Given the description of an element on the screen output the (x, y) to click on. 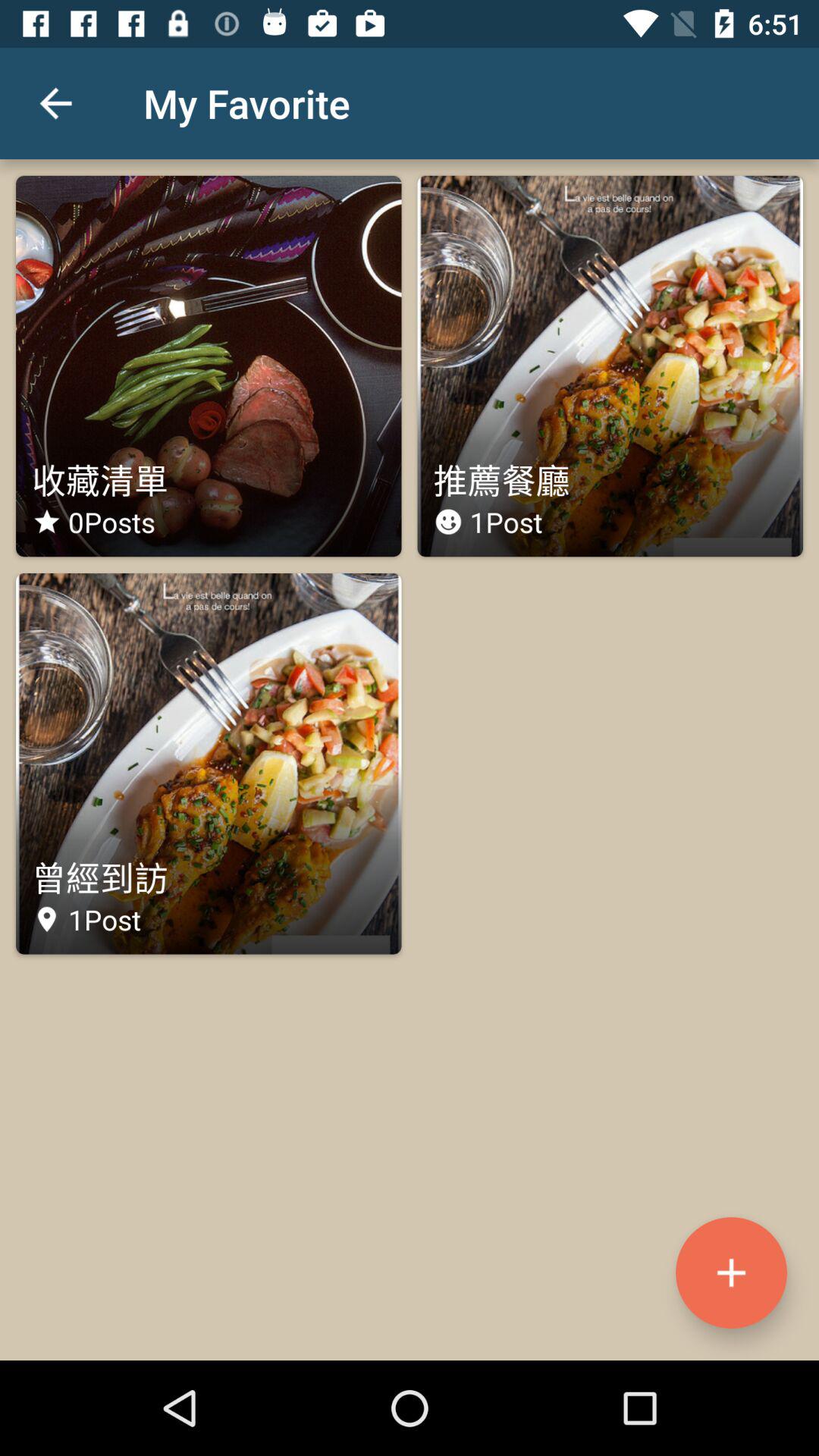
launch icon to the left of the my favorite (55, 103)
